Given the description of an element on the screen output the (x, y) to click on. 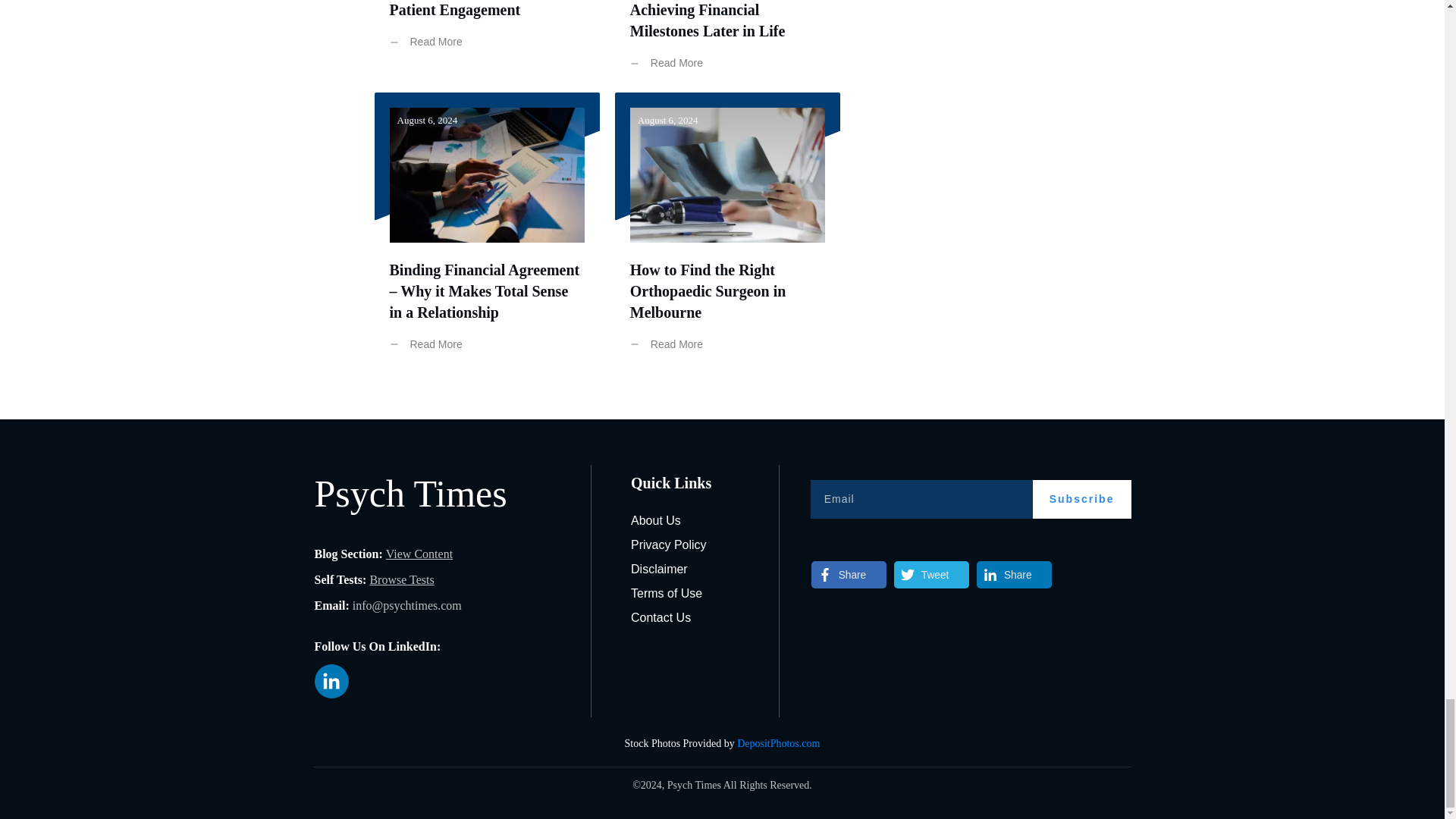
How to Find the Right Orthopaedic Surgeon in Melbourne (708, 291)
Virtual Assistants Boost Patient Engagement (467, 9)
